Given the description of an element on the screen output the (x, y) to click on. 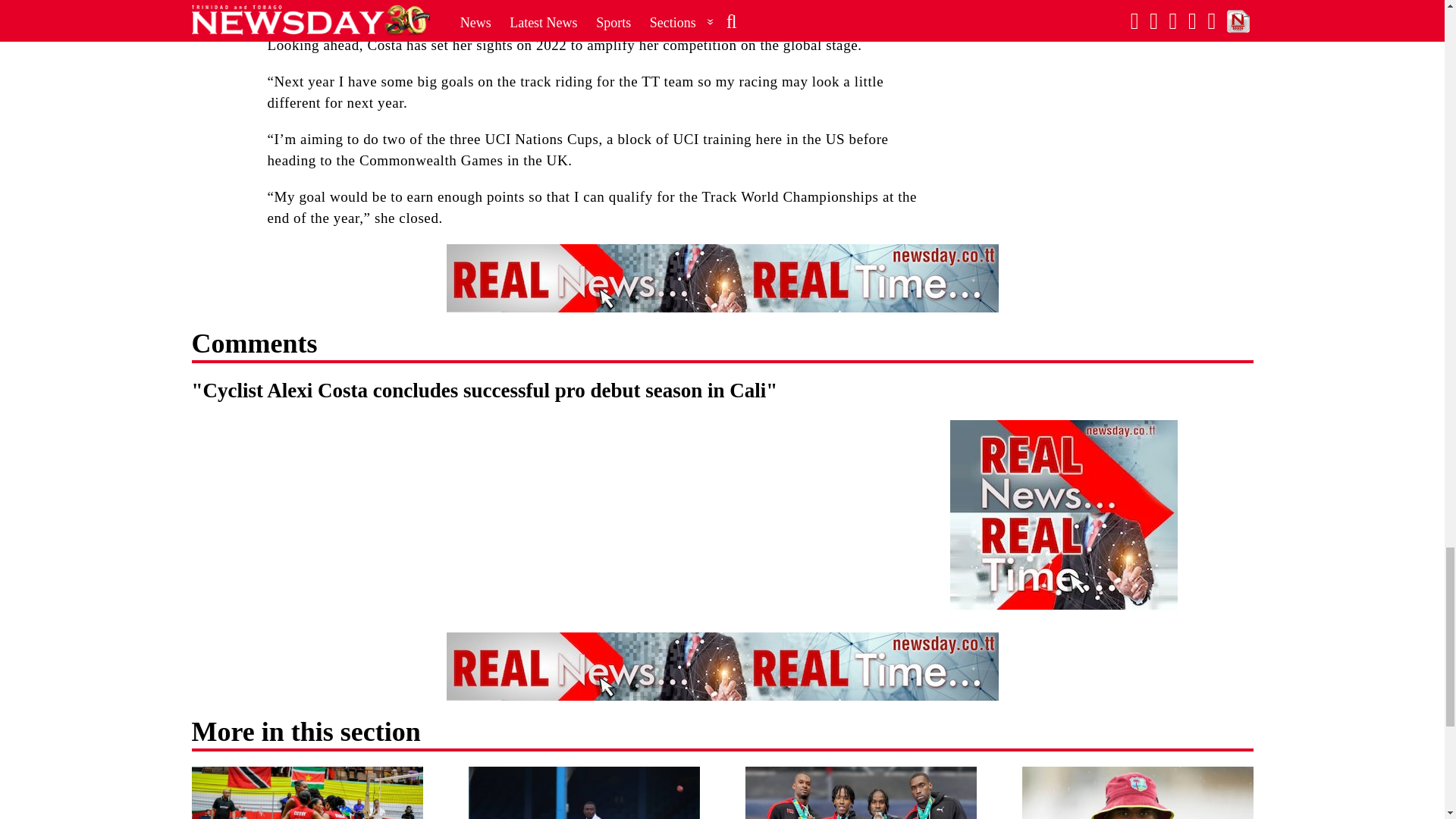
Trinidad and Tobago boys, girls earn U19 volleyball silver (306, 792)
Test cricket in August: sadness of the future (584, 792)
